Given the description of an element on the screen output the (x, y) to click on. 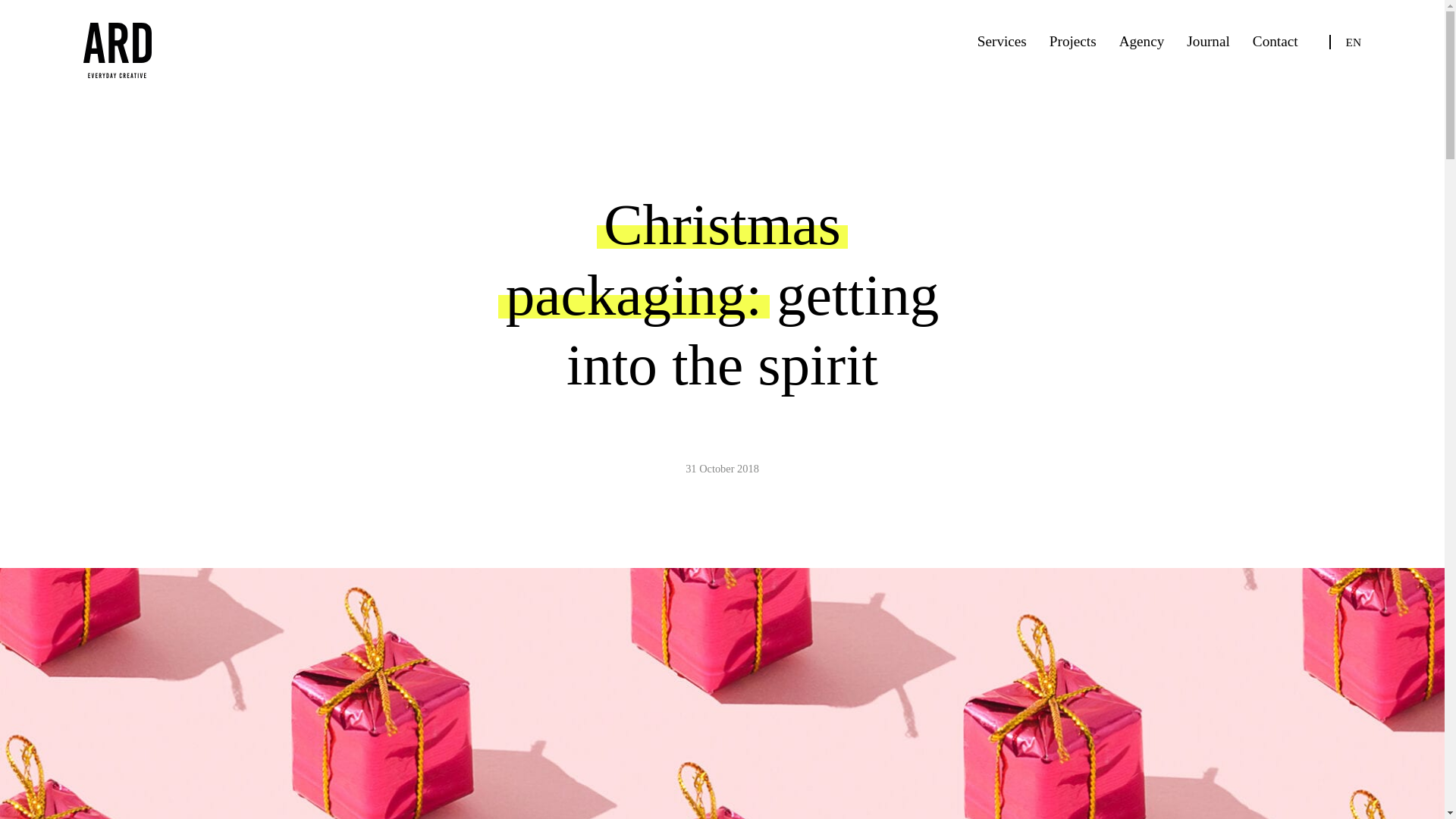
EN (1352, 40)
Contact (1275, 41)
Agency (1141, 41)
Journal (1208, 41)
Projects (1072, 41)
Services (1001, 41)
EN (1352, 40)
